Given the description of an element on the screen output the (x, y) to click on. 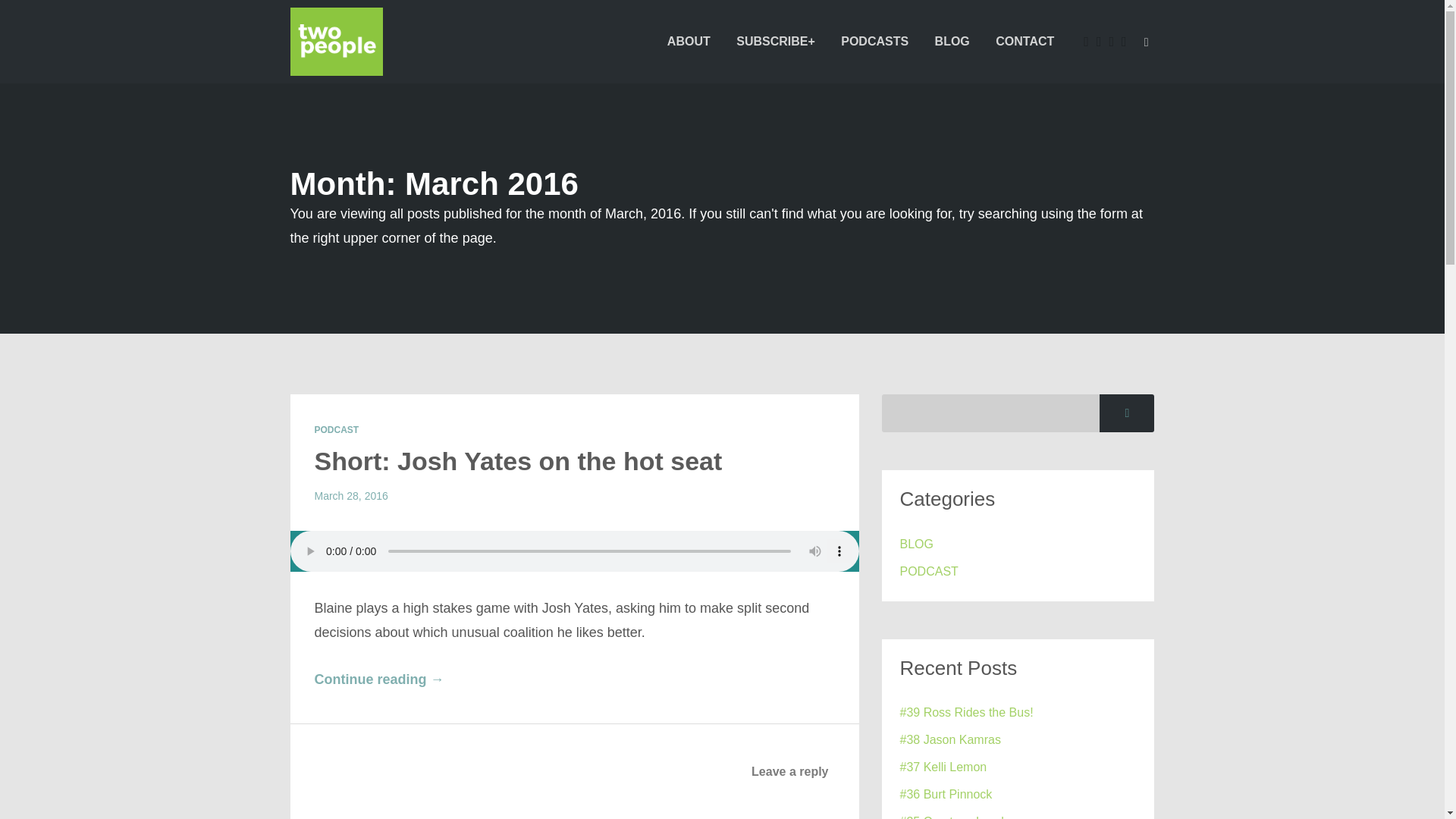
March 28, 2016 (350, 495)
PODCASTS (874, 41)
PODCAST (928, 570)
Permalink to Short: Josh Yates on the hot seat (518, 460)
Short: Josh Yates on the hot seat (518, 460)
BLOG (916, 543)
PODCAST (336, 429)
CONTACT (1024, 41)
Leave a reply (789, 771)
